Given the description of an element on the screen output the (x, y) to click on. 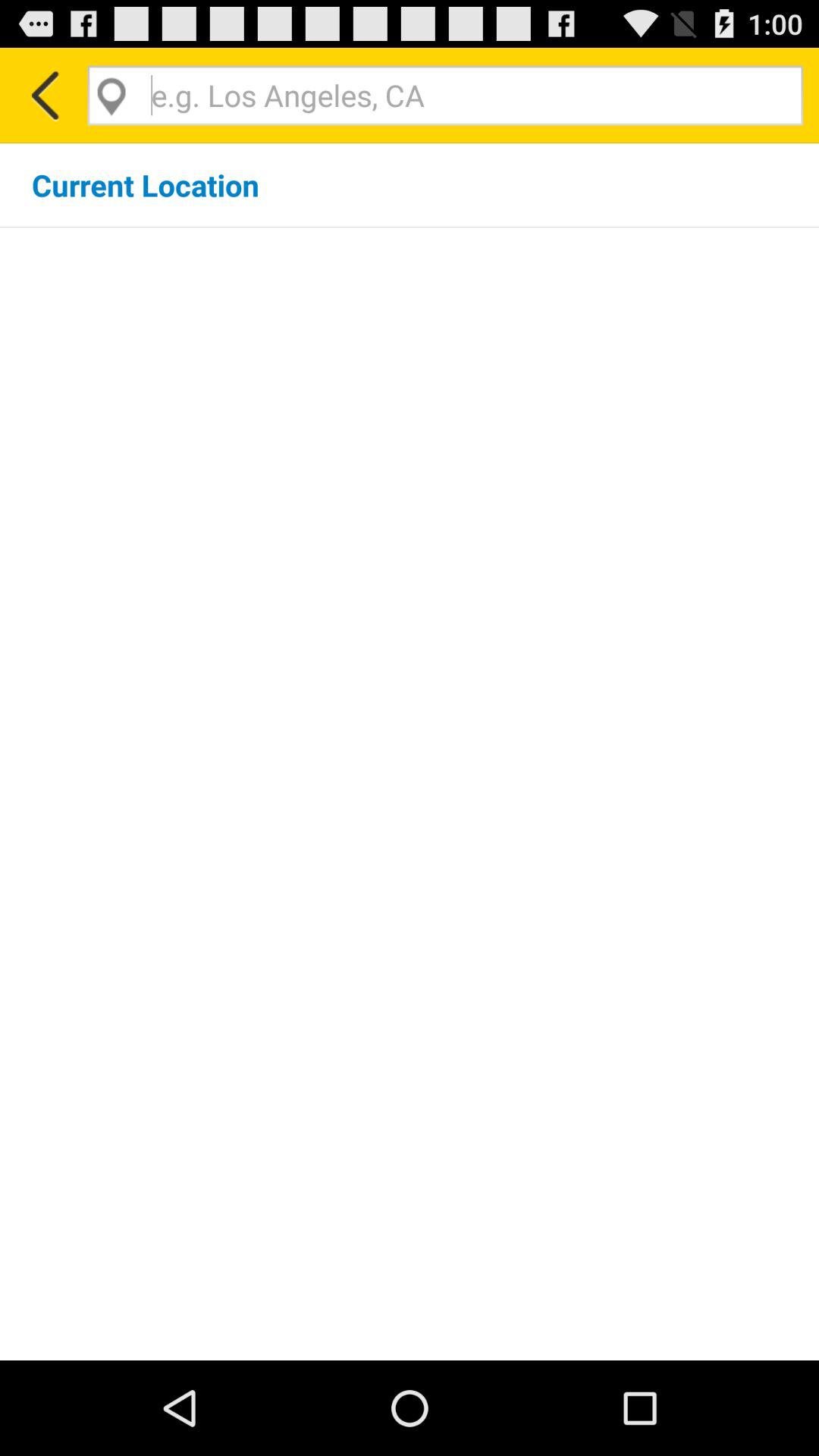
swipe to current location item (145, 184)
